Given the description of an element on the screen output the (x, y) to click on. 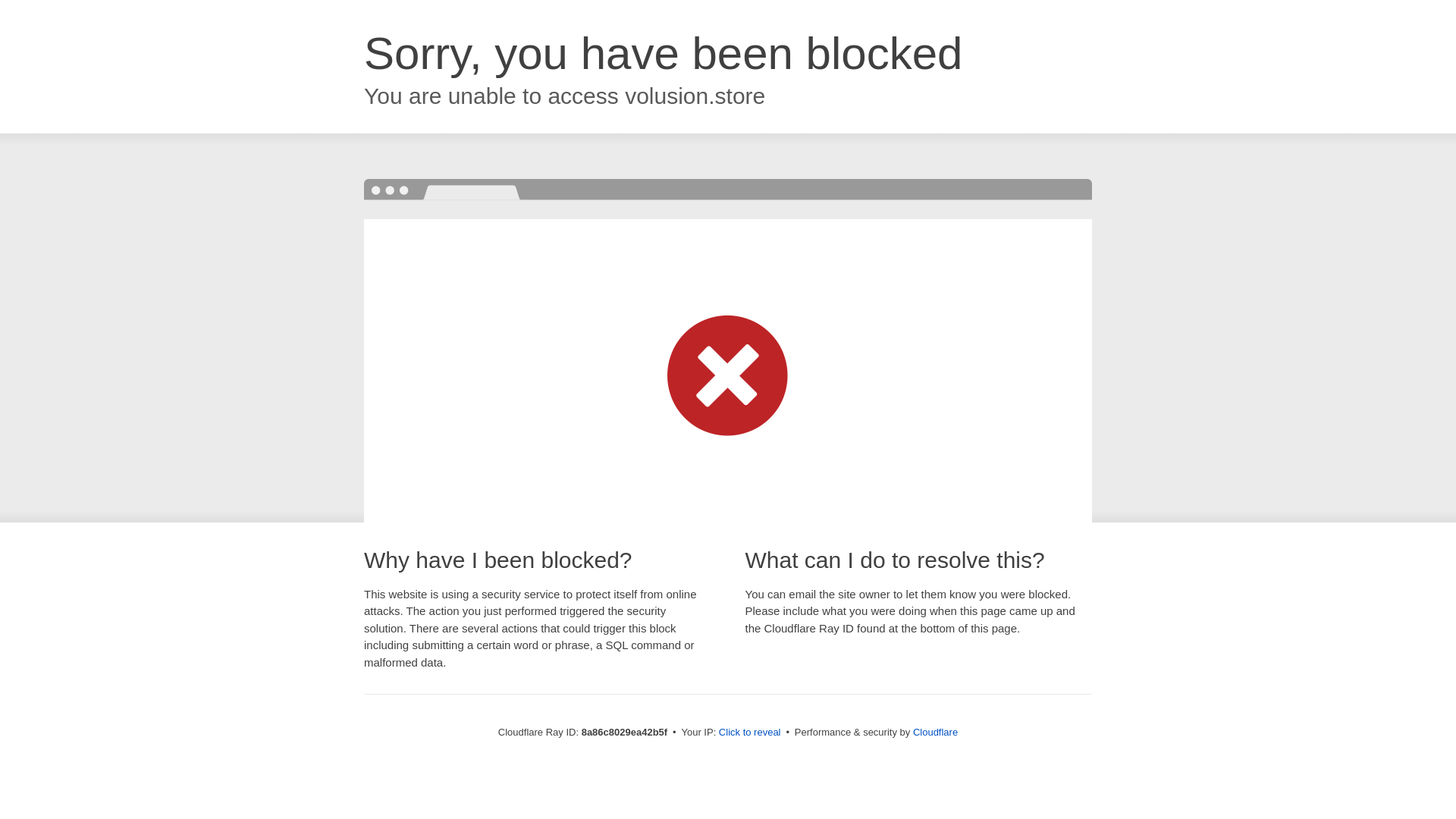
Click to reveal (749, 732)
Cloudflare (935, 731)
